Given the description of an element on the screen output the (x, y) to click on. 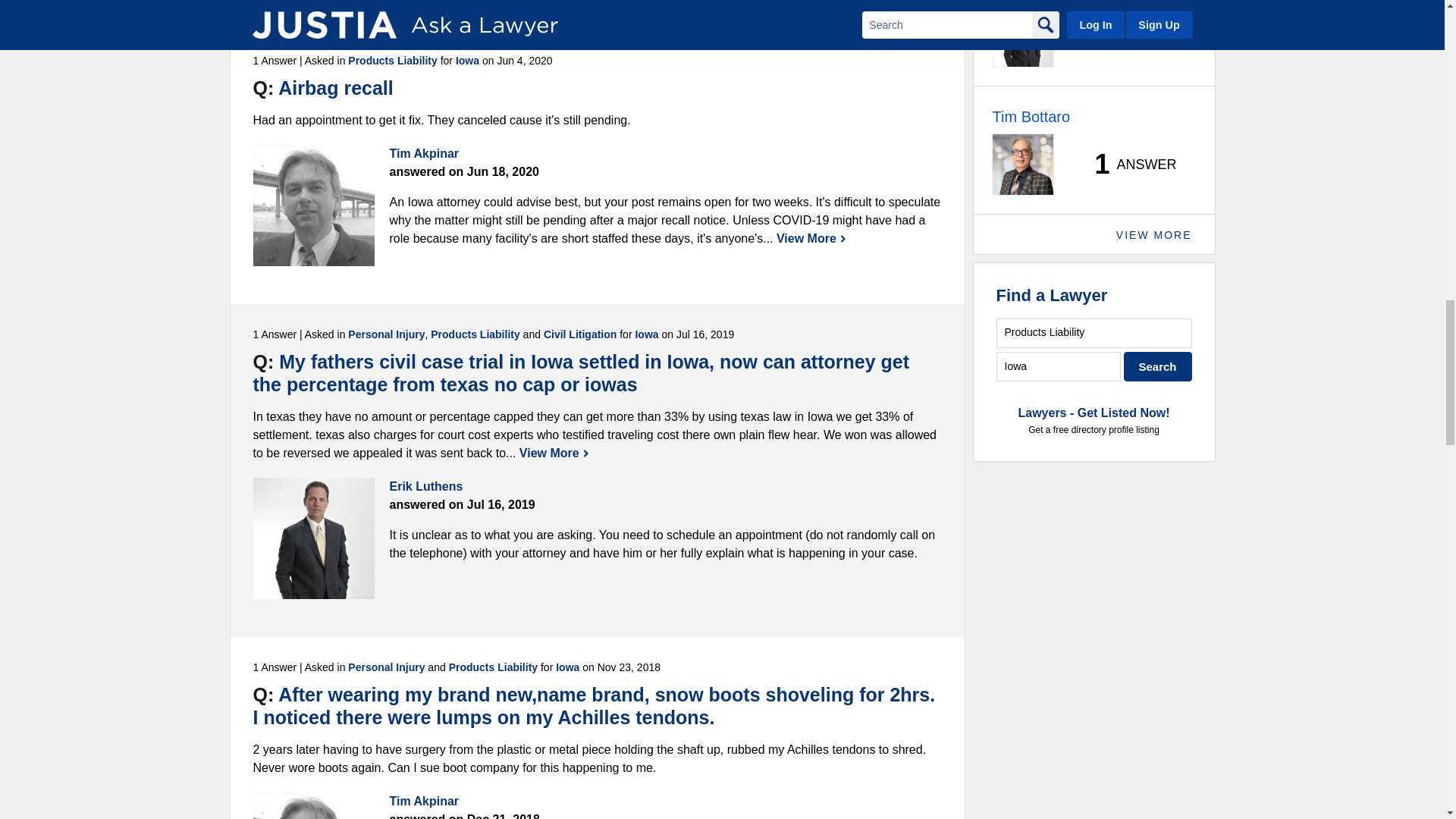
Products Liability (1093, 333)
Search (1158, 366)
Erik Luthens (313, 537)
Tim Akpinar (313, 205)
Search (1158, 366)
Tim Akpinar (313, 805)
Iowa (1058, 366)
